Given the description of an element on the screen output the (x, y) to click on. 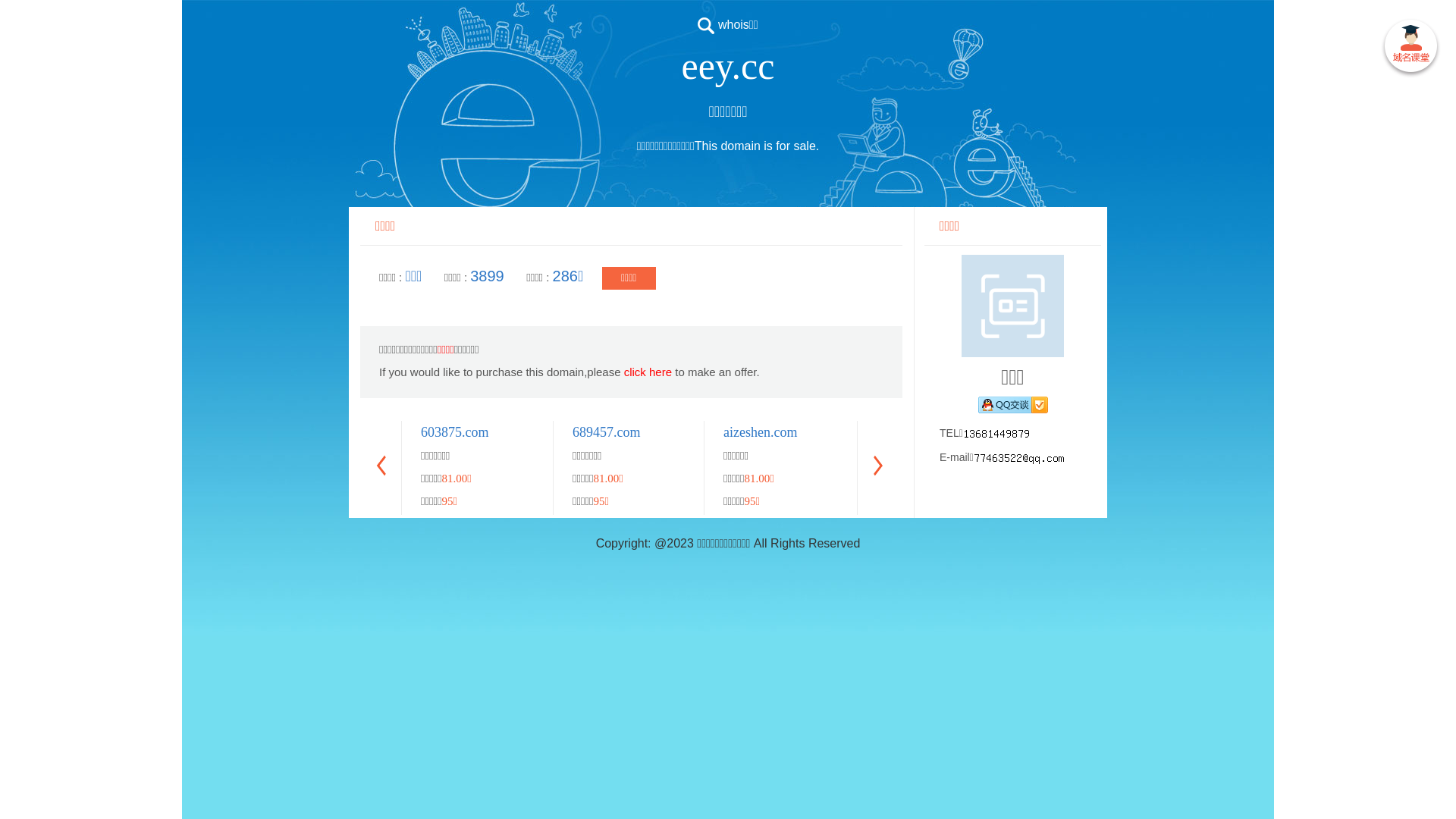
aizeshen.com Element type: text (760, 431)
603875.com Element type: text (454, 431)
chianrun.com Element type: text (911, 431)
click here Element type: text (647, 371)
689457.com Element type: text (606, 431)
601704.com Element type: text (1361, 431)
aiszesen.com Element type: text (1212, 431)
qerwq.com Element type: text (1055, 431)
  Element type: text (1410, 48)
